Given the description of an element on the screen output the (x, y) to click on. 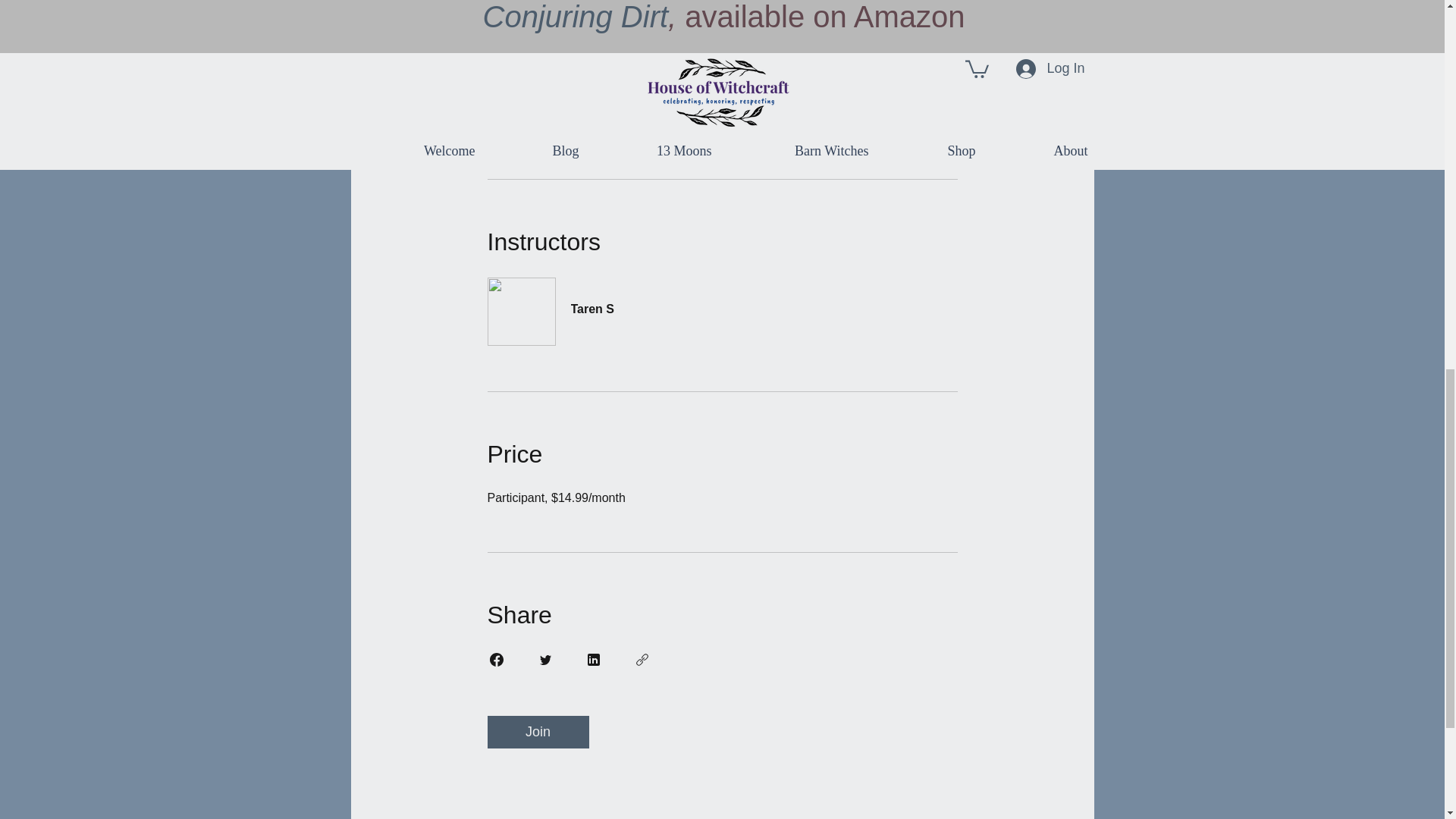
Taren S (721, 300)
Join (537, 731)
Go to the app (794, 100)
